Given the description of an element on the screen output the (x, y) to click on. 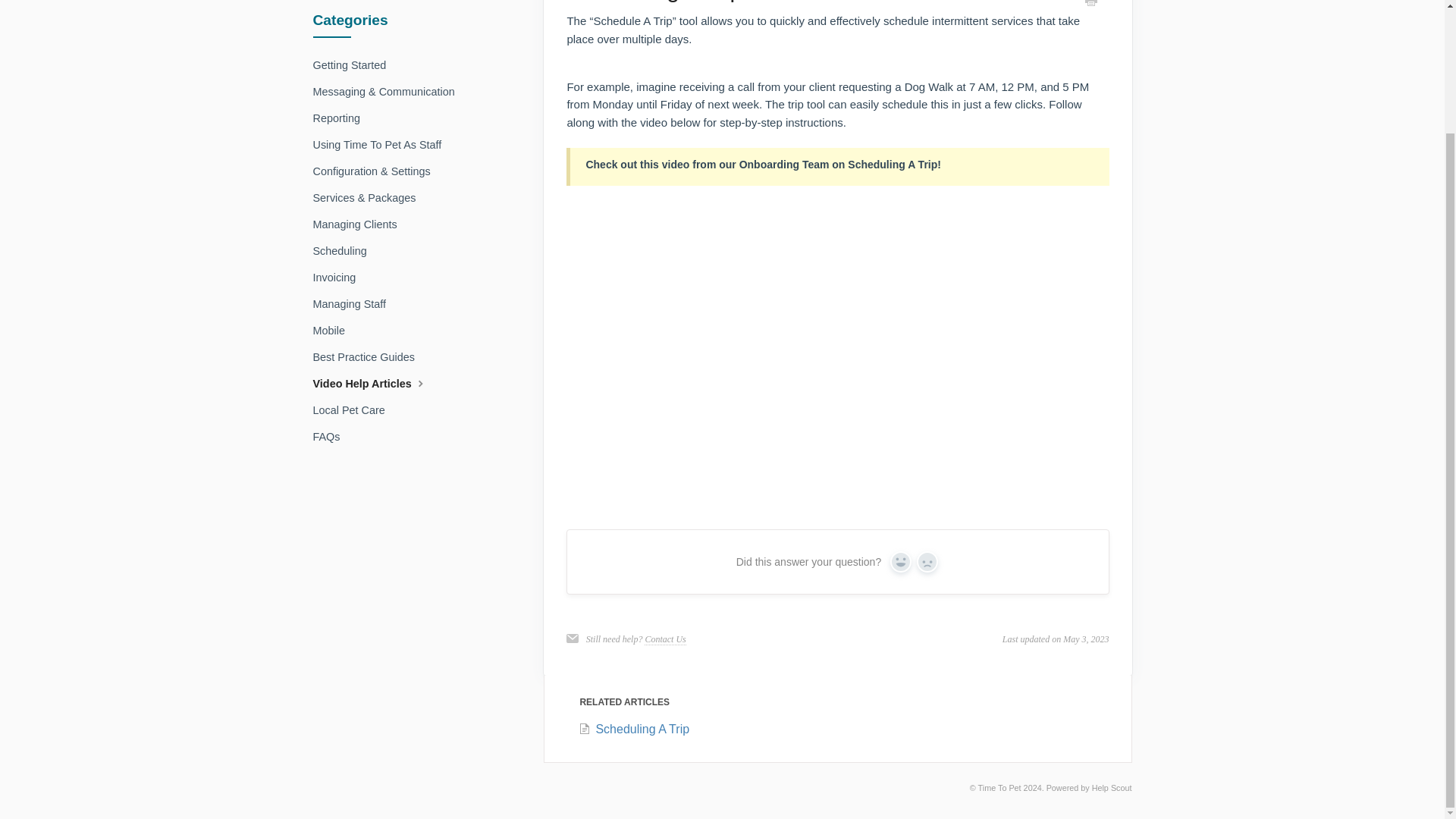
Using Time To Pet As Staff (382, 144)
Invoicing (339, 277)
Reporting (342, 118)
No (927, 561)
Local Pet Care (354, 410)
Managing Staff (355, 303)
Scheduling (345, 250)
Scheduling A Trip (633, 728)
Managing Clients (360, 224)
